Given the description of an element on the screen output the (x, y) to click on. 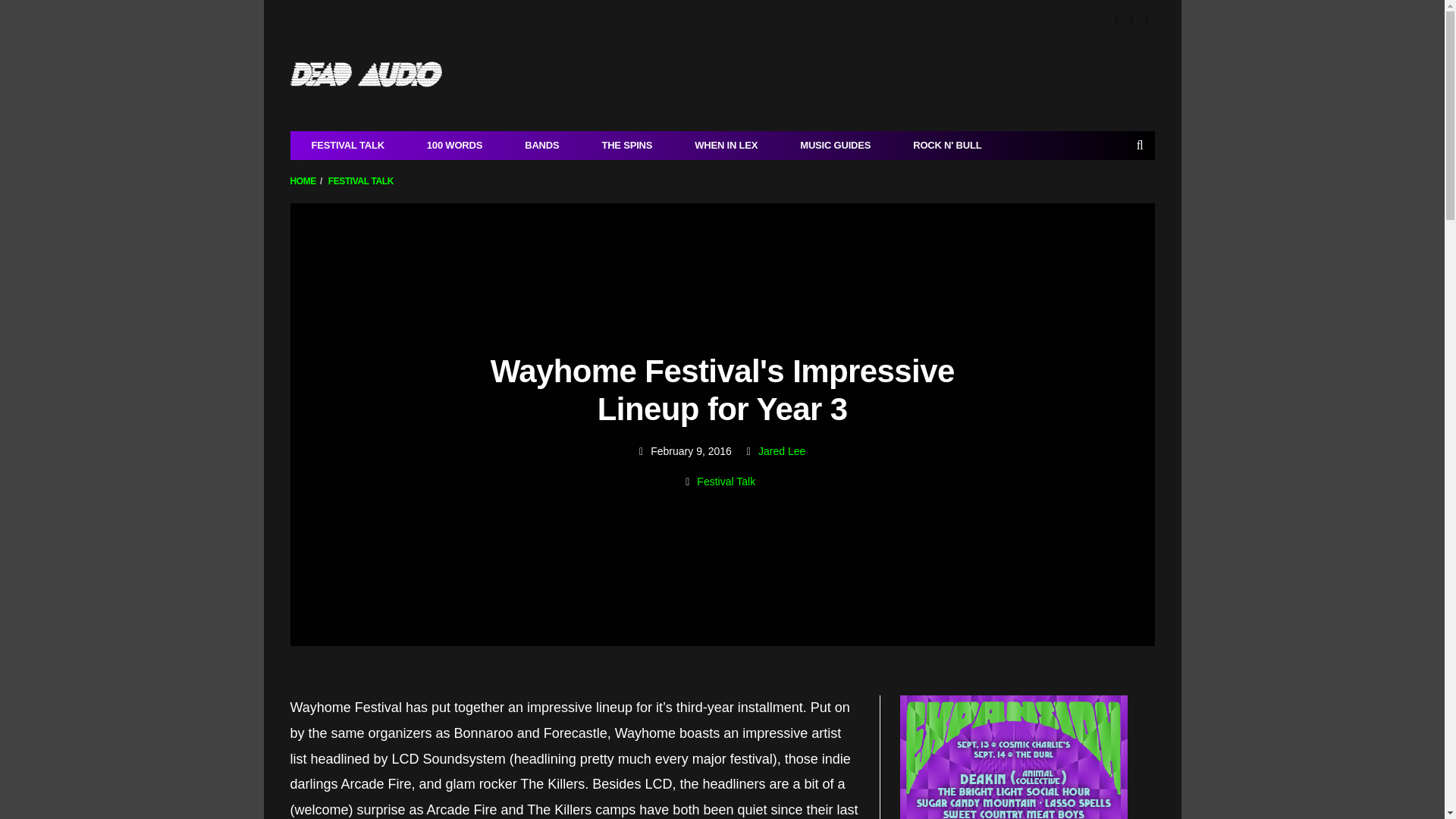
WHEN IN LEX (725, 145)
100 WORDS (454, 145)
THE SPINS (625, 145)
FESTIVAL TALK (361, 181)
Jared Lee (781, 451)
ROCK N' BULL (947, 145)
FESTIVAL TALK (346, 145)
HOME (302, 181)
MUSIC GUIDES (834, 145)
Festival Talk (726, 482)
